Given the description of an element on the screen output the (x, y) to click on. 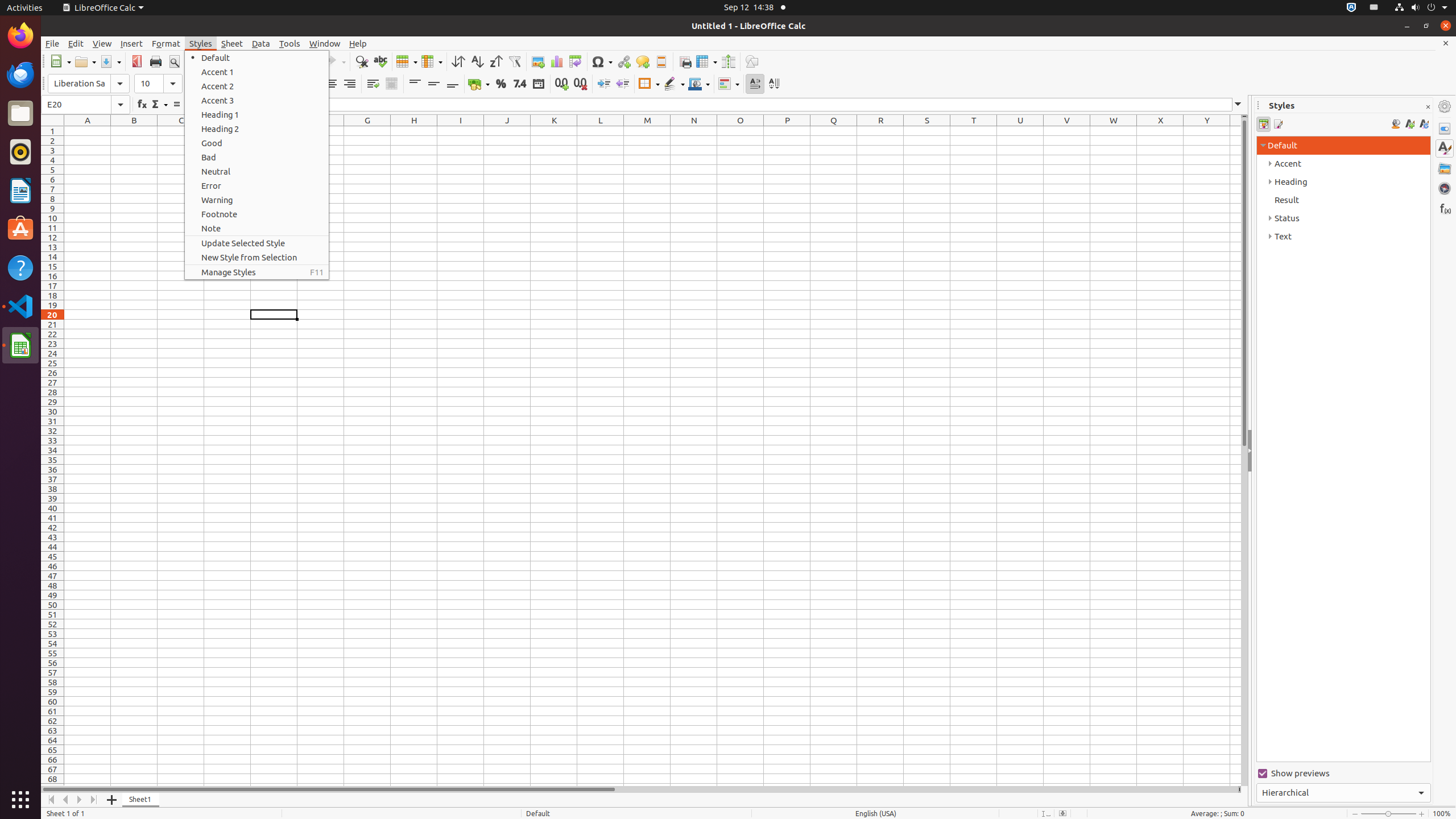
PDF Element type: push-button (136, 61)
Freeze Rows and Columns Element type: push-button (705, 61)
Q1 Element type: table-cell (833, 130)
Accent 3 Element type: radio-menu-item (256, 100)
Number Element type: push-button (519, 83)
